Given the description of an element on the screen output the (x, y) to click on. 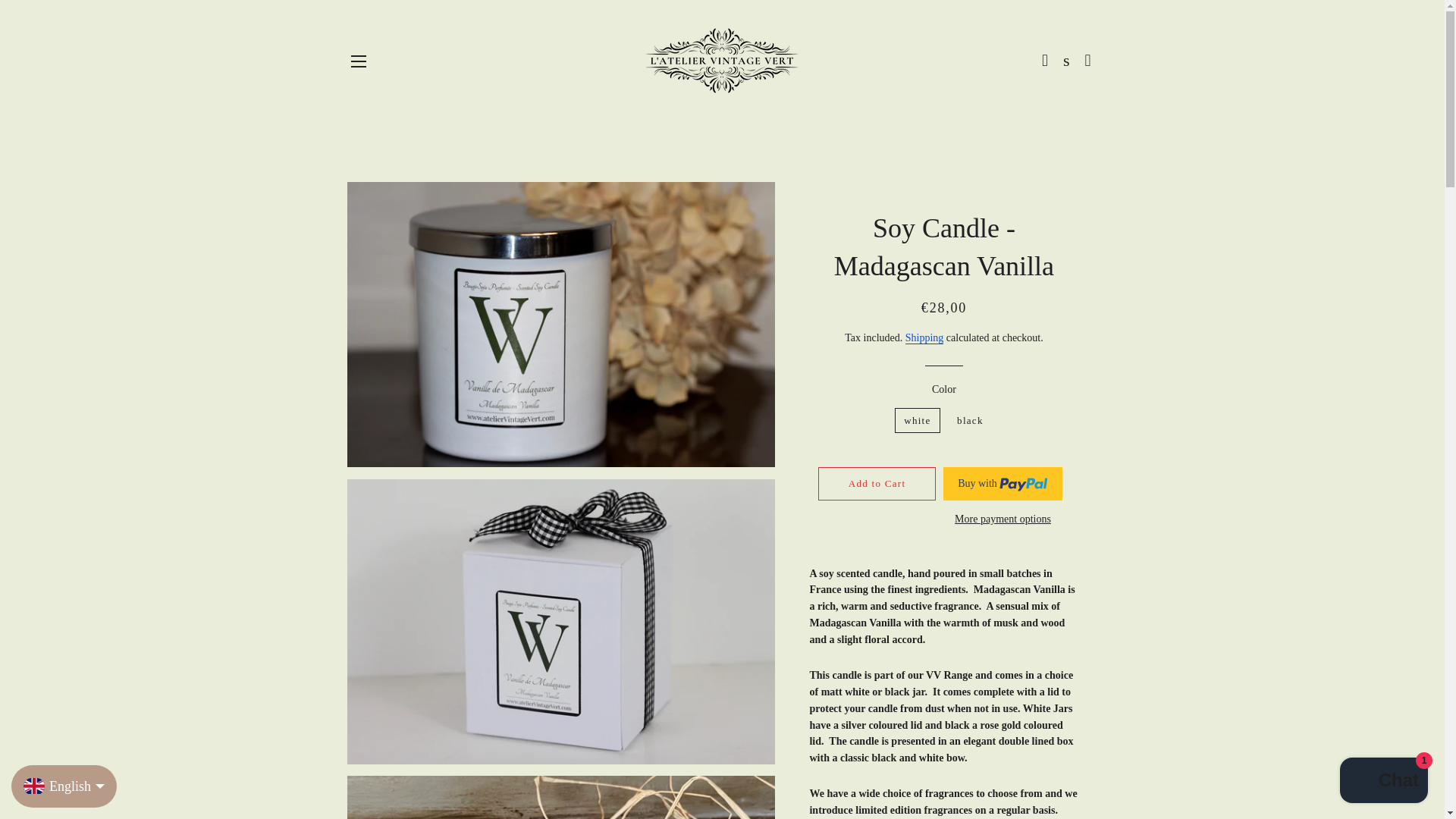
Shopify online store chat (1383, 781)
